Given the description of an element on the screen output the (x, y) to click on. 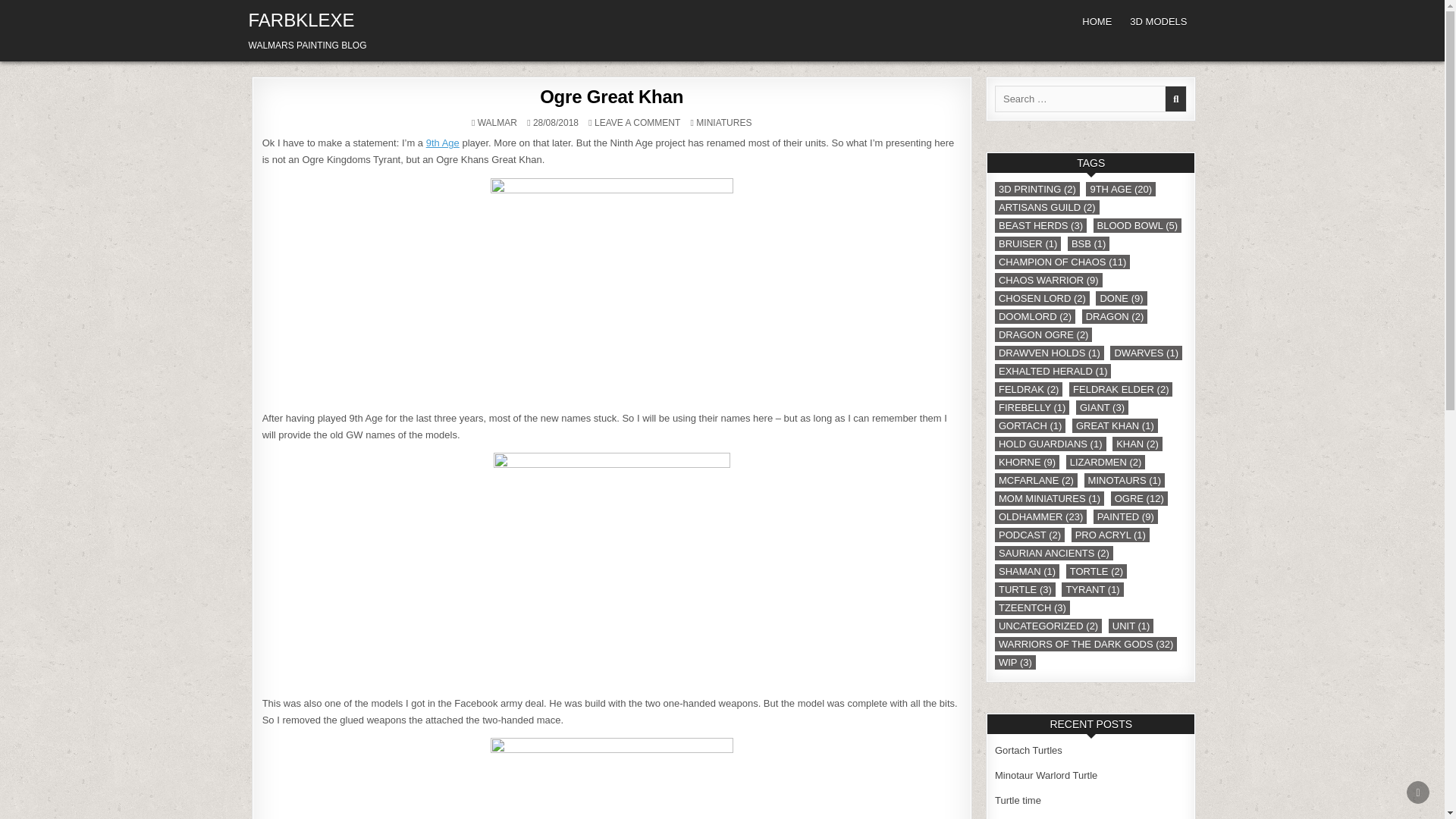
HOME (1097, 21)
FARBKLEXE (636, 122)
MINIATURES (301, 19)
WALMAR (723, 122)
Scroll to Top (496, 122)
9th Age (1417, 792)
Ogre Great Khan (443, 142)
3D MODELS (611, 96)
SCROLL TO TOP (1158, 21)
